Given the description of an element on the screen output the (x, y) to click on. 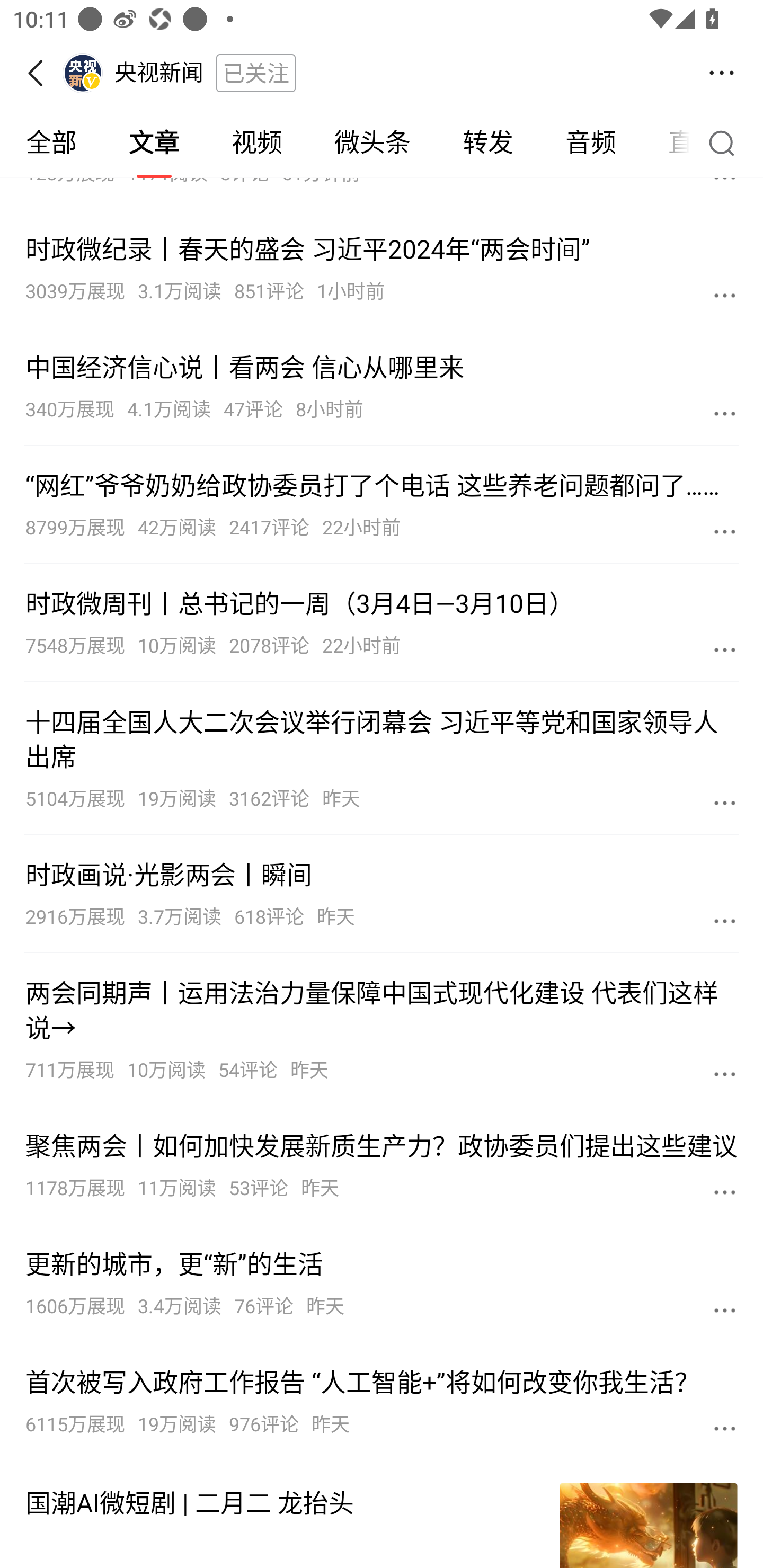
返回 (41, 72)
更多操作 (721, 72)
已关注 (255, 72)
全部 (51, 143)
文章 (154, 143)
视频 (256, 143)
微头条 (372, 143)
转发 (487, 143)
音频 (590, 143)
搜索 (726, 142)
更多 (724, 294)
更多 (724, 412)
更多 (724, 531)
更多 (724, 648)
更多 (724, 802)
更多 (724, 919)
更多 (724, 1073)
更多 (724, 1191)
更多 (724, 1309)
更多 (724, 1427)
